Given the description of an element on the screen output the (x, y) to click on. 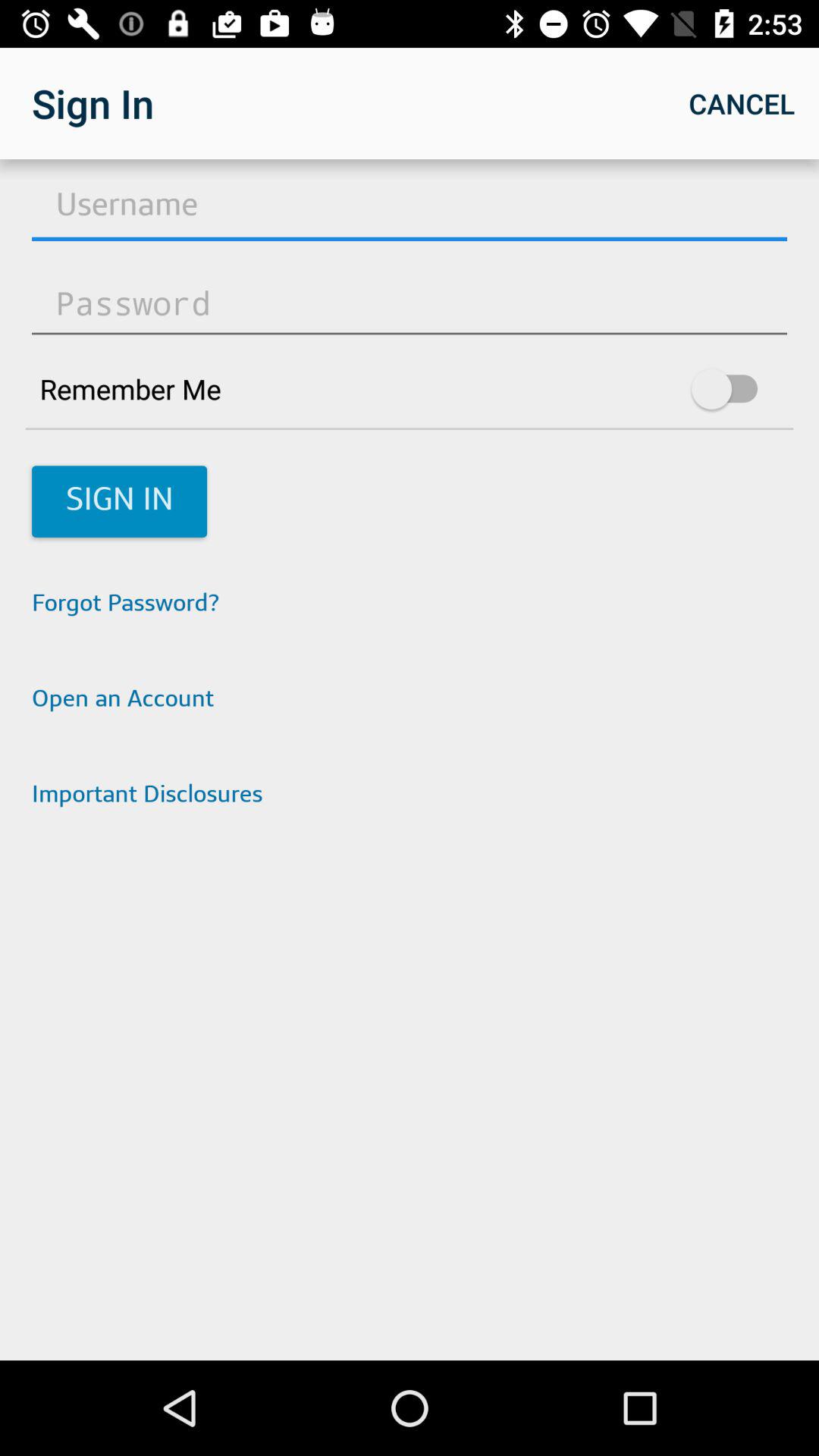
flip until remember me icon (409, 388)
